Given the description of an element on the screen output the (x, y) to click on. 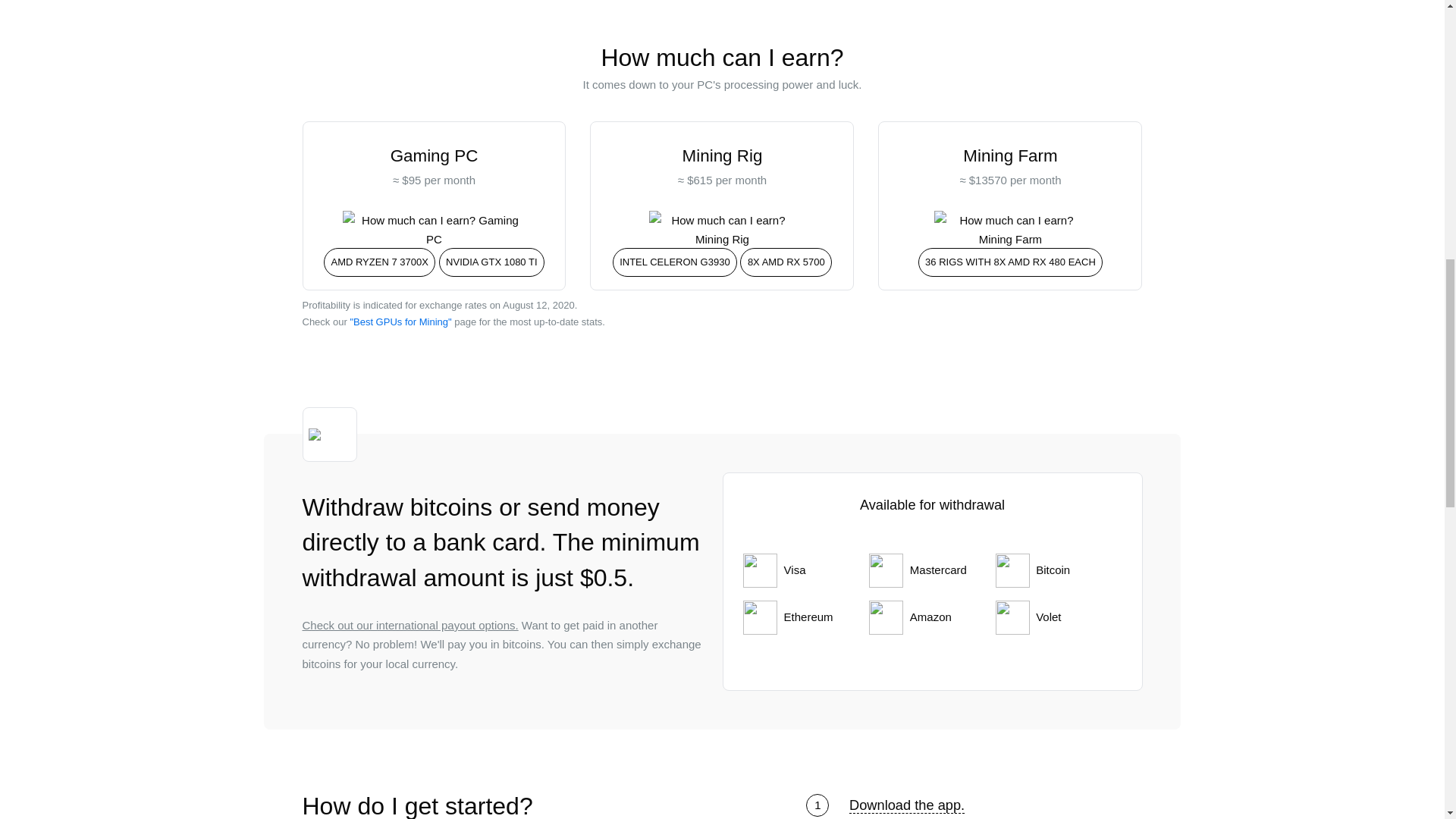
"Best GPUs for Mining" (400, 321)
Check out our international payout options. (409, 625)
